Given the description of an element on the screen output the (x, y) to click on. 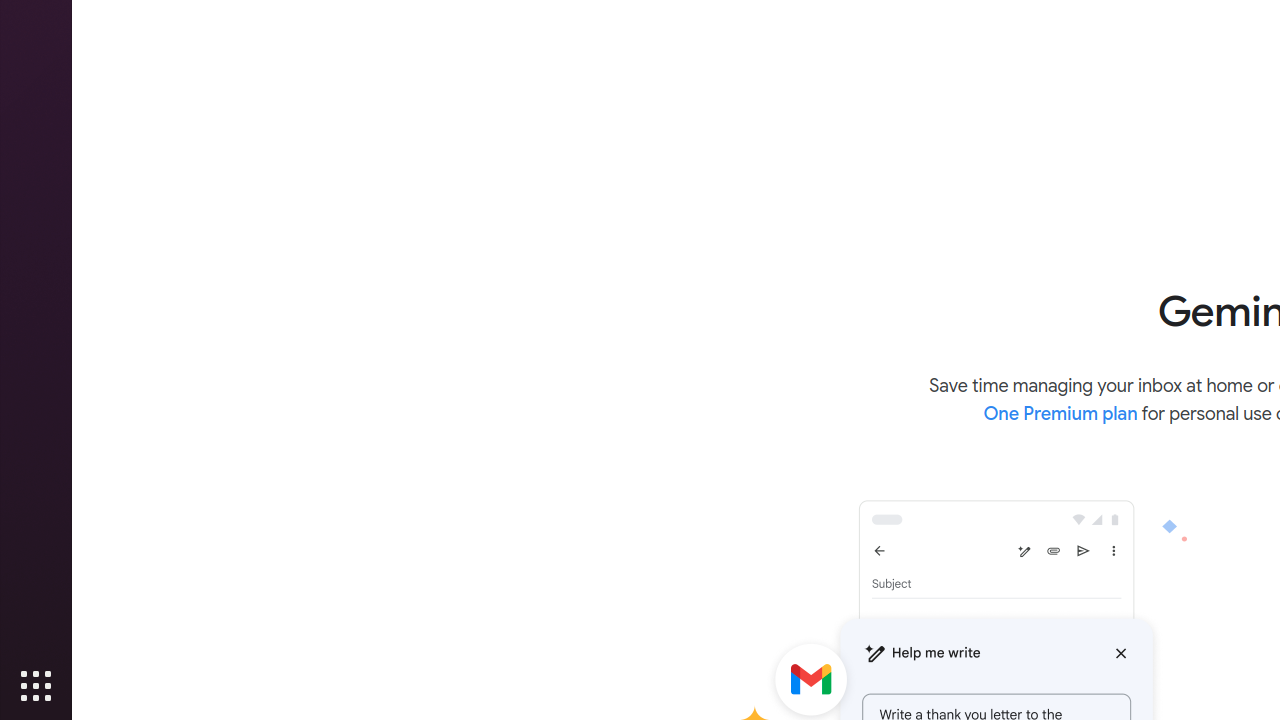
Show Applications Element type: toggle-button (36, 686)
